Given the description of an element on the screen output the (x, y) to click on. 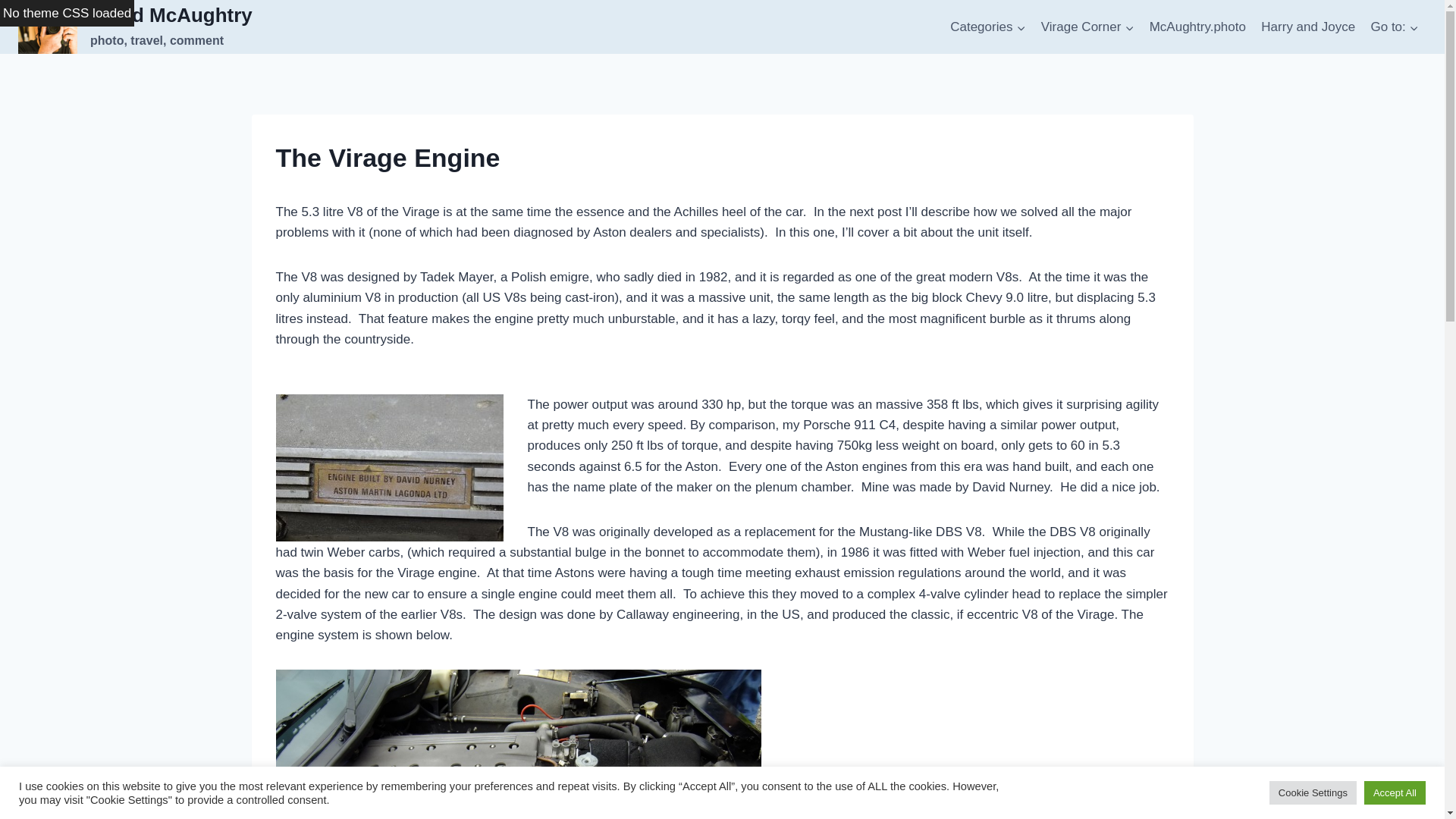
David Nurney nameplate (134, 27)
Categories (389, 467)
Harry and Joyce (987, 27)
McAughtry.photo (1307, 27)
Front of Virage V8 block (1197, 27)
Go to: (518, 744)
Virage Corner (1394, 27)
